Given the description of an element on the screen output the (x, y) to click on. 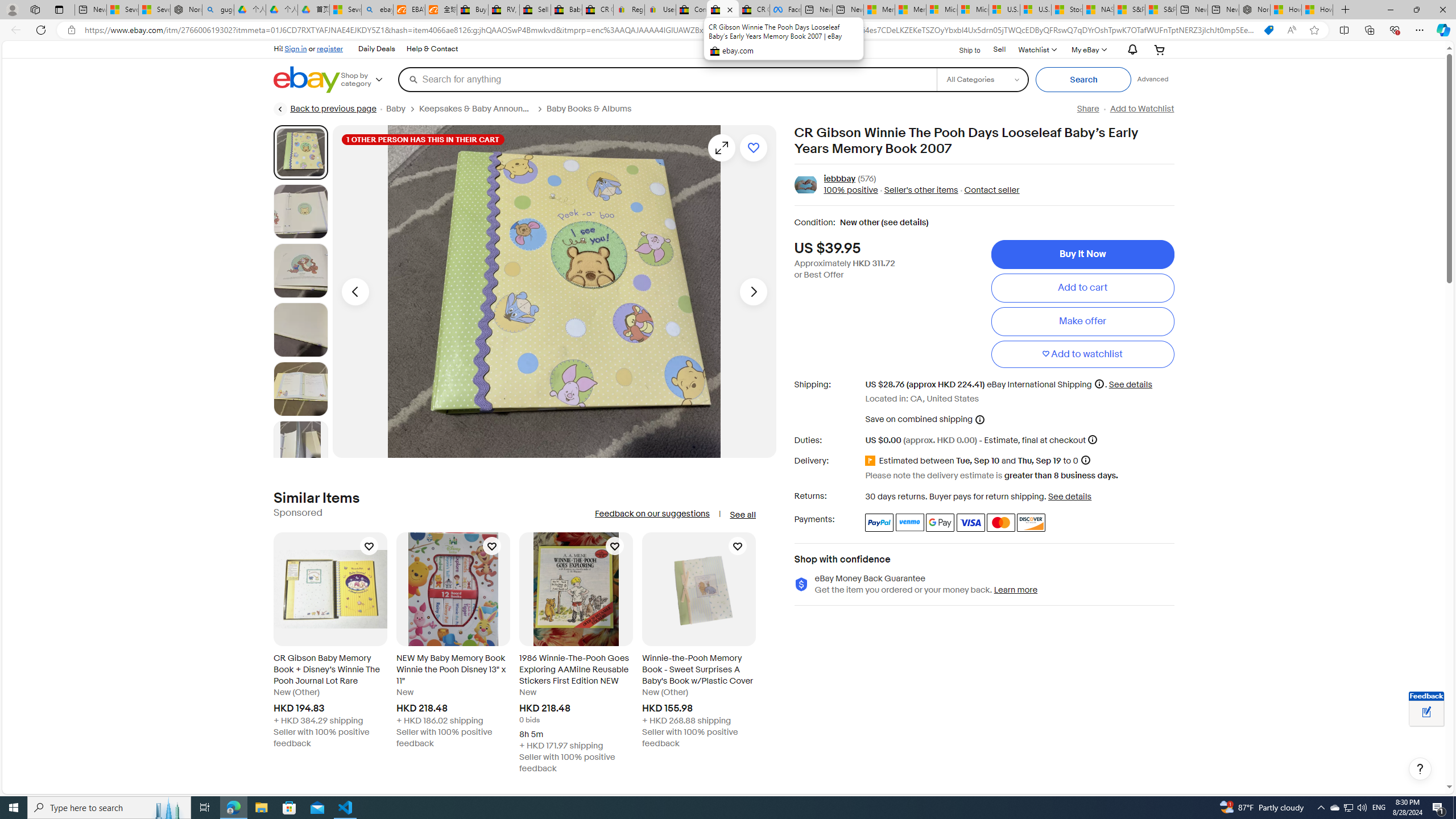
Help & Contact (432, 49)
Register: Create a personal eBay account (628, 9)
Add to watchlist (753, 147)
Workspaces (34, 9)
My eBay (1088, 49)
Picture 3 of 22 (300, 270)
Make offer (1082, 320)
More information on Combined Shipping. Opens a layer. (979, 419)
RV, Trailer & Camper Steps & Ladders for sale | eBay (503, 9)
How to Use a Monitor With Your Closed Laptop (1317, 9)
User Privacy Notice | eBay (660, 9)
Ship to (962, 48)
WatchlistExpand Watch List (1036, 49)
